Given the description of an element on the screen output the (x, y) to click on. 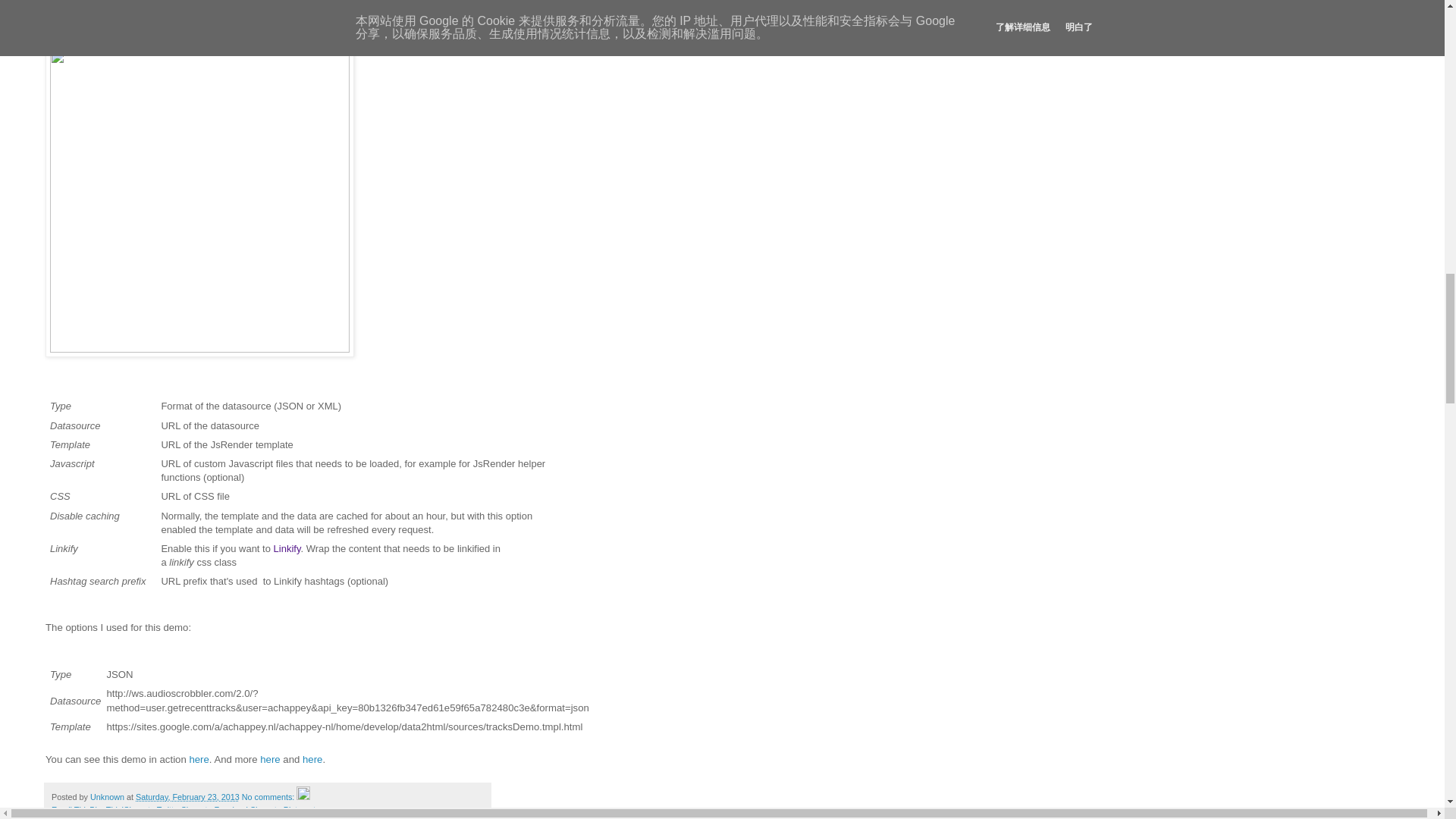
BlogThis! (105, 809)
author profile (108, 796)
Edit Post (303, 796)
here (198, 758)
Share to Facebook (215, 809)
permanent link (187, 796)
Share to Twitter (151, 809)
Email This (69, 809)
Linkify (287, 548)
